Given the description of an element on the screen output the (x, y) to click on. 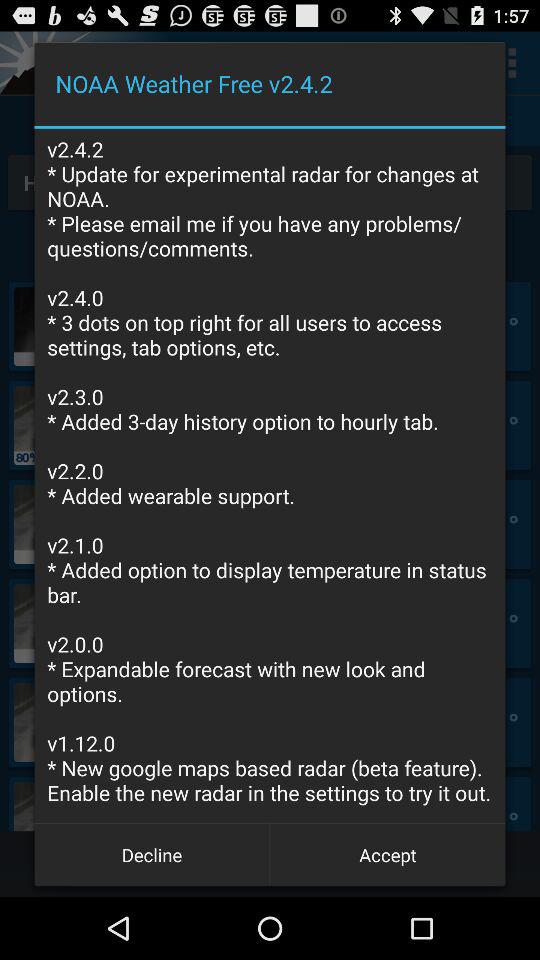
flip until the accept item (387, 854)
